Given the description of an element on the screen output the (x, y) to click on. 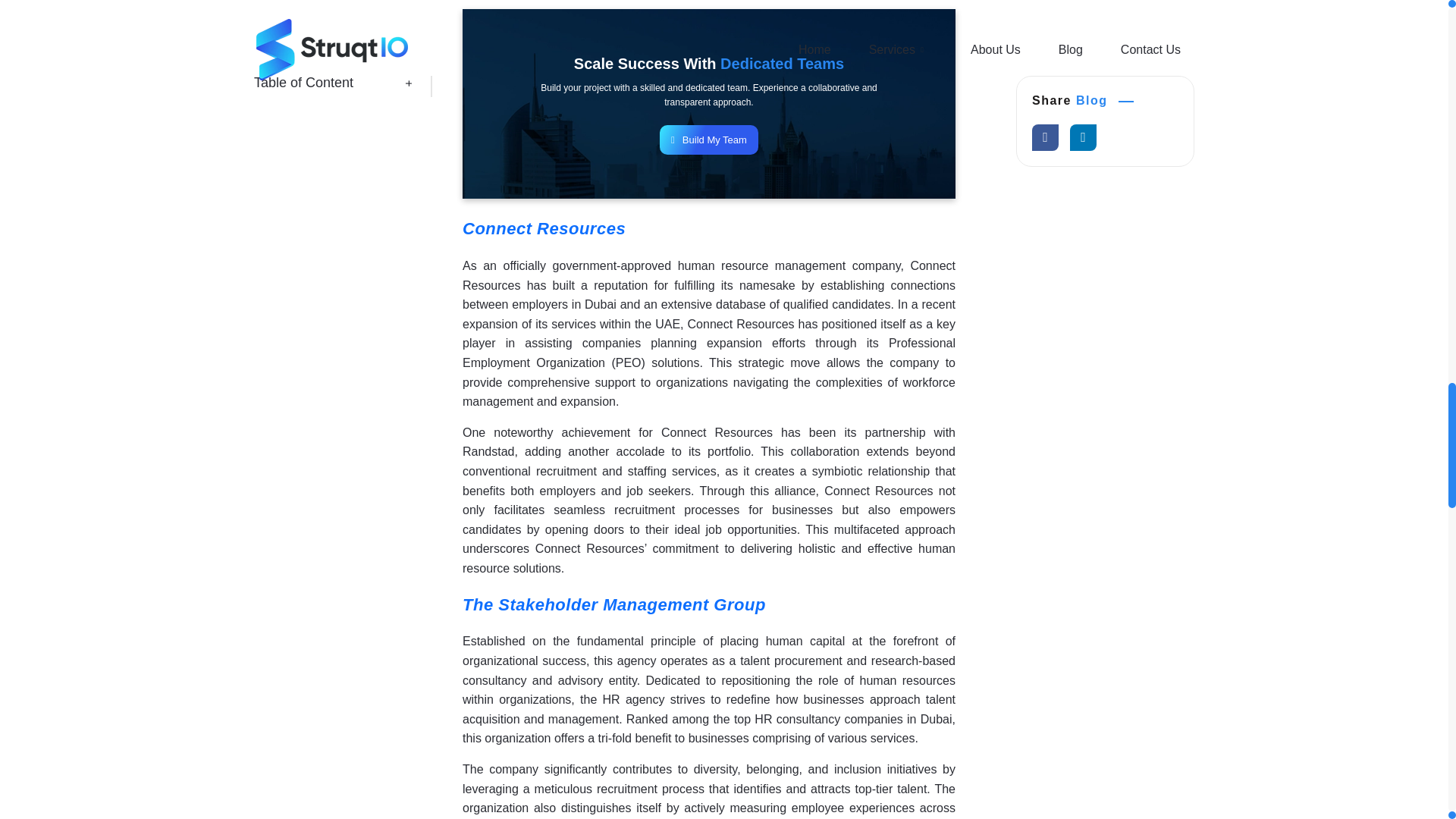
Build My Team (708, 139)
The Stakeholder Management Group (614, 605)
Connect Resources (544, 228)
